Given the description of an element on the screen output the (x, y) to click on. 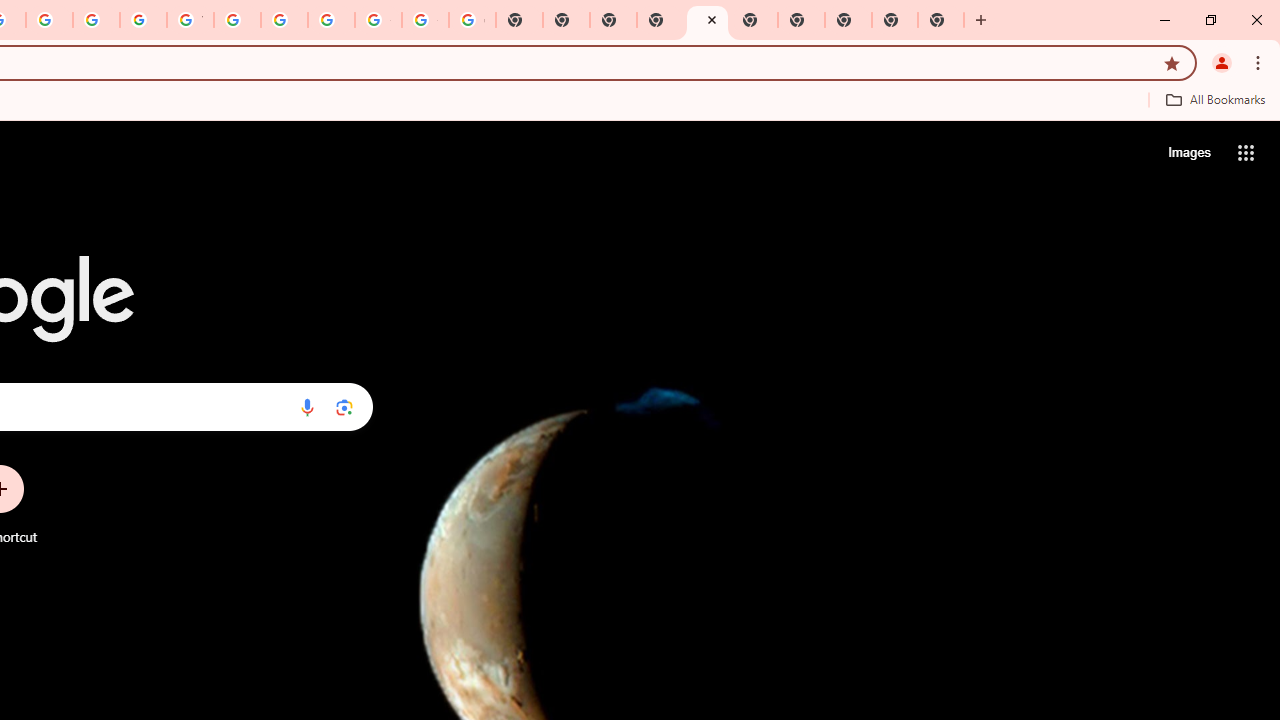
YouTube (189, 20)
New Tab (848, 20)
Google Images (472, 20)
Search by voice (307, 407)
New Tab (660, 20)
All Bookmarks (1215, 99)
